Given the description of an element on the screen output the (x, y) to click on. 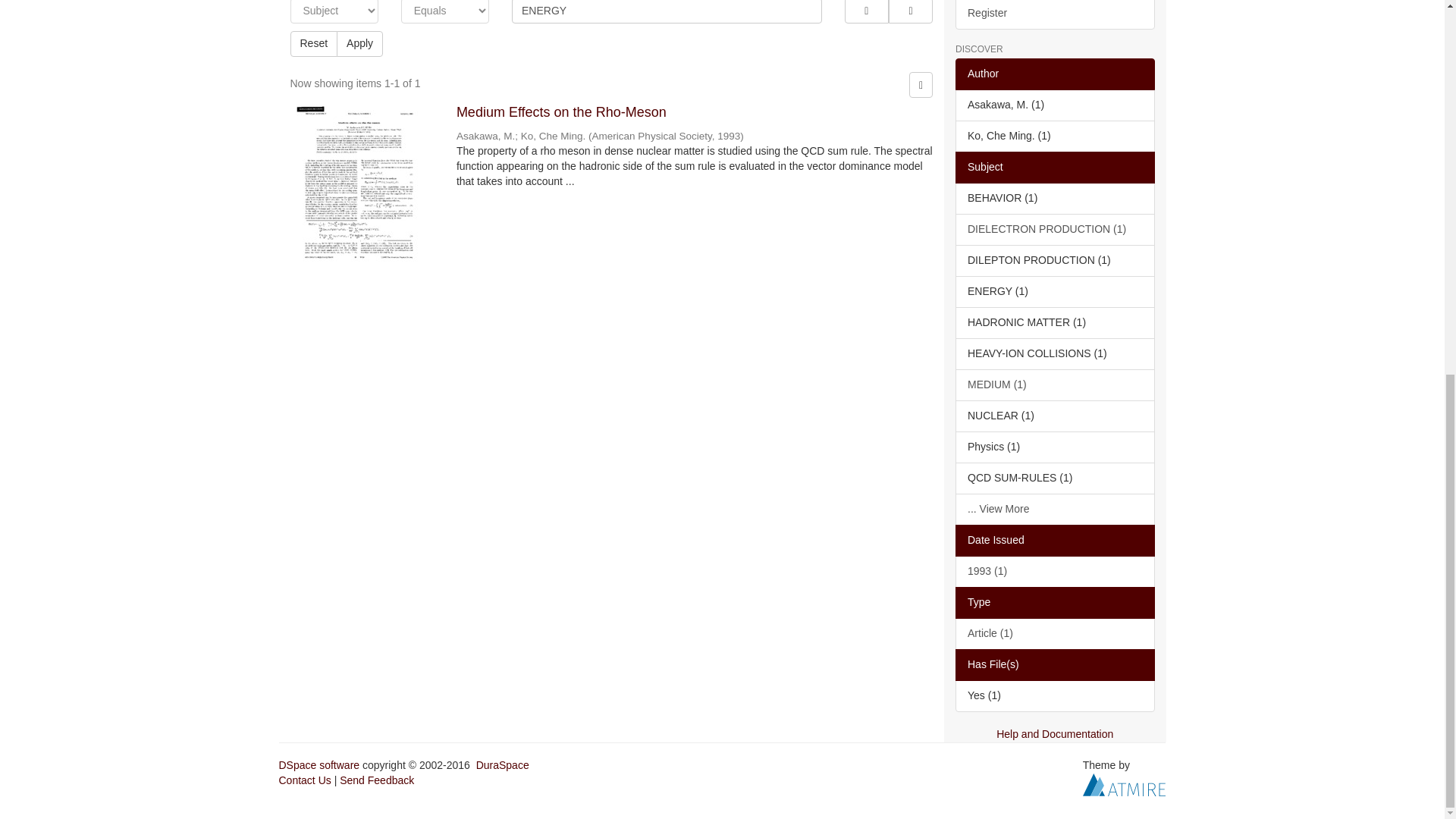
ENERGY (667, 11)
